Given the description of an element on the screen output the (x, y) to click on. 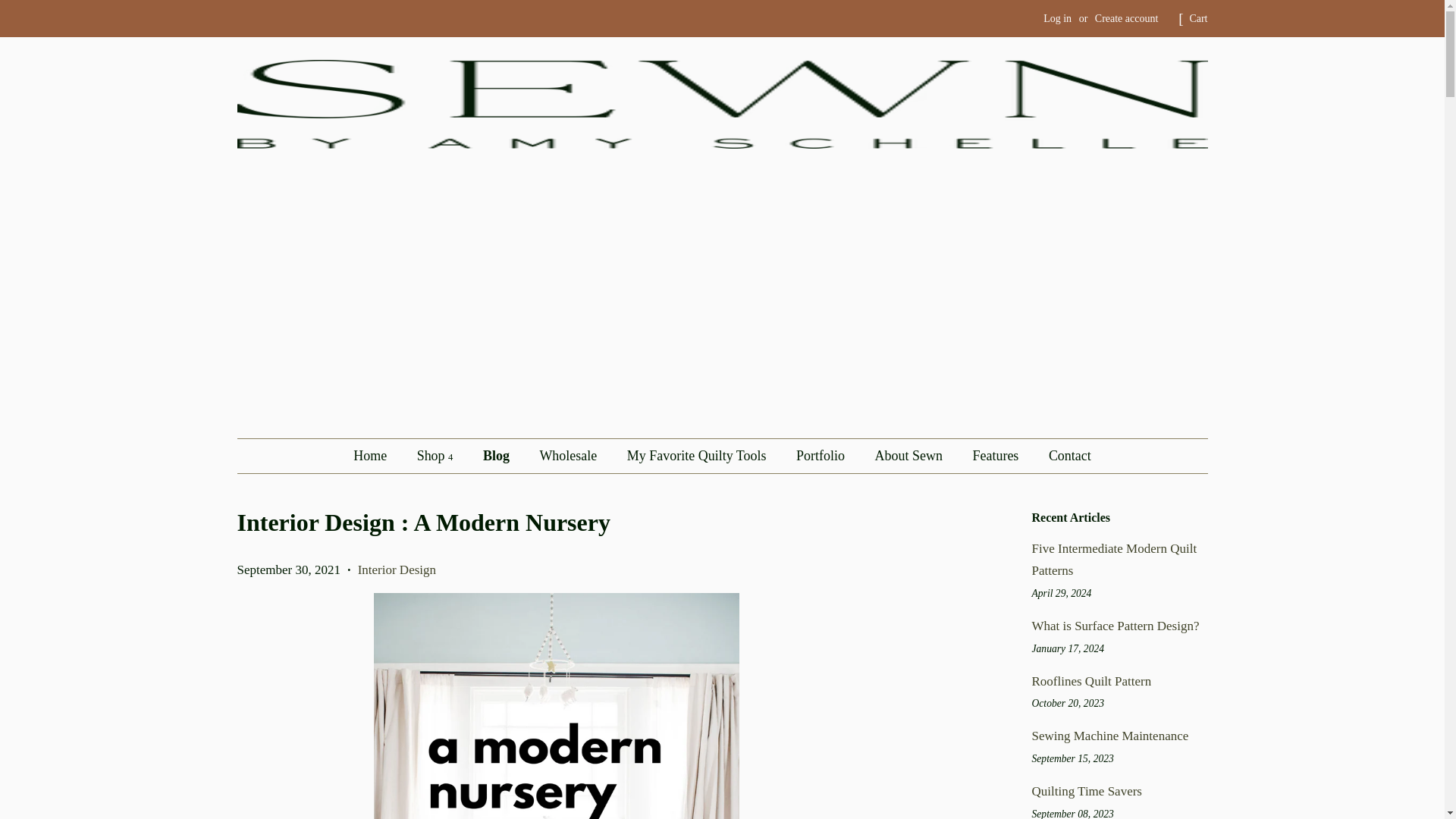
Create account (1126, 18)
About Sewn (910, 455)
My Favorite Quilty Tools (698, 455)
Log in (1057, 18)
Contact (1063, 455)
Wholesale (569, 455)
Shop (437, 455)
Features (996, 455)
Home (377, 455)
Cart (1198, 18)
